Given the description of an element on the screen output the (x, y) to click on. 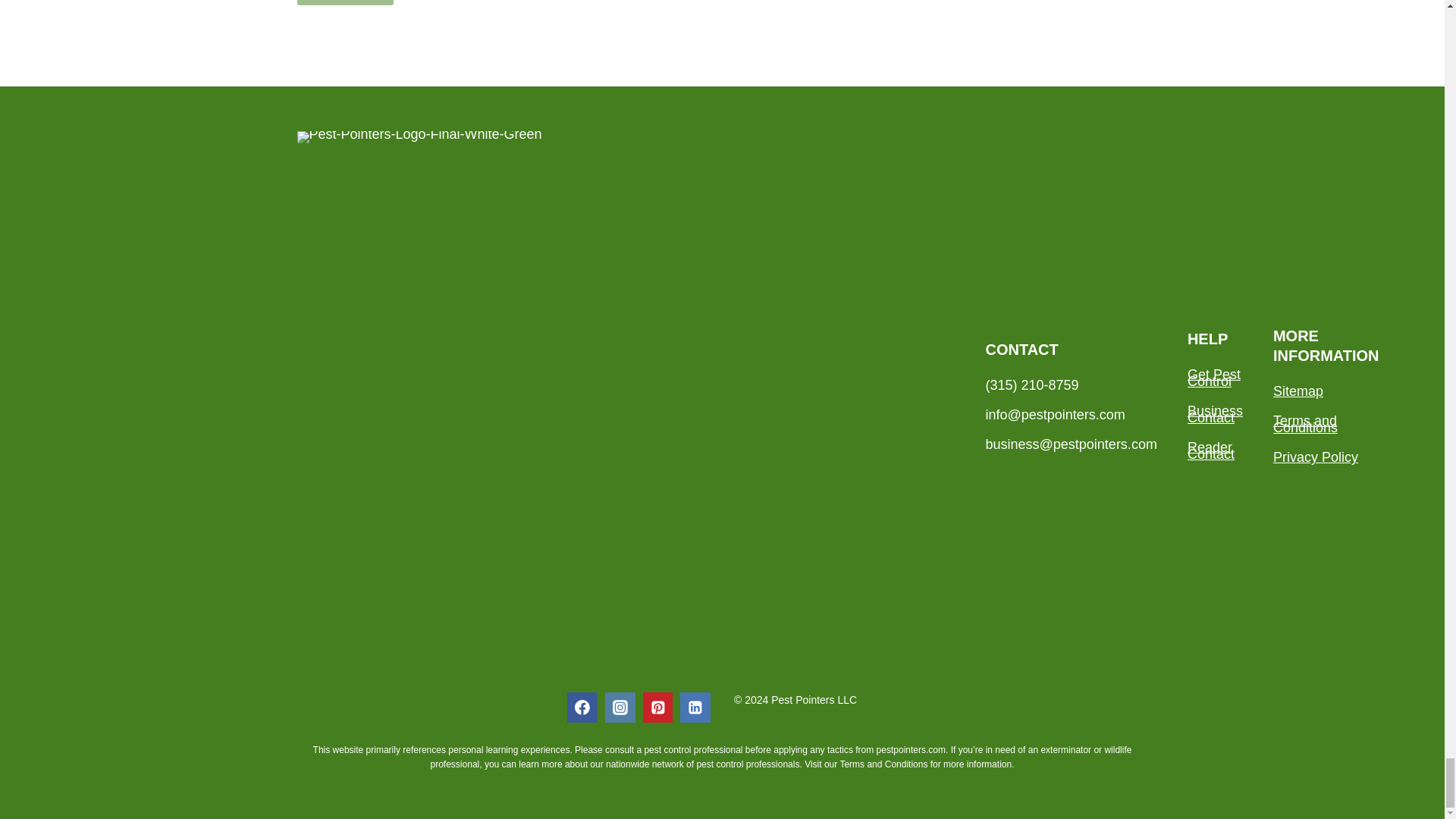
Post Comment (345, 2)
